Given the description of an element on the screen output the (x, y) to click on. 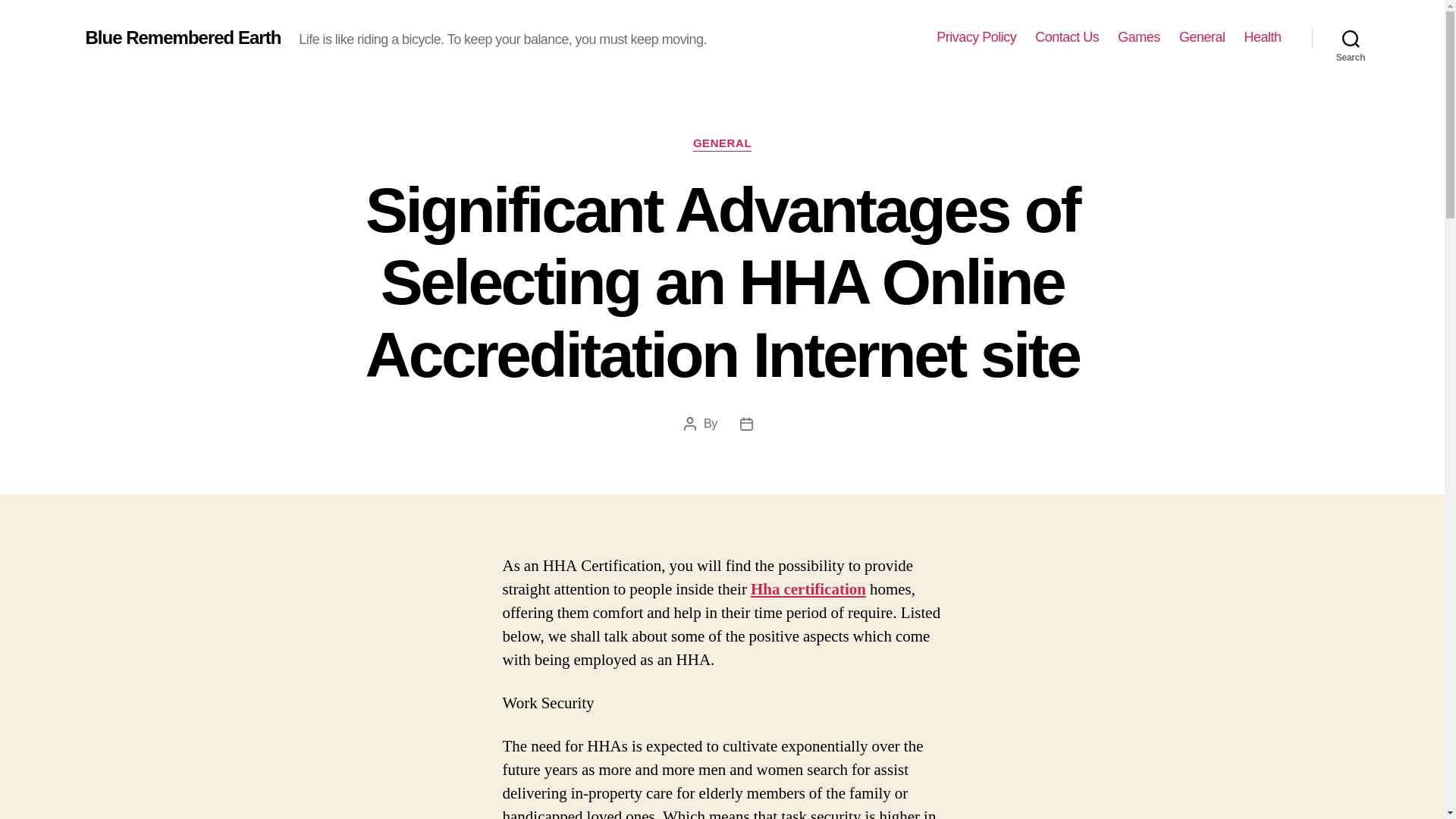
Health (1262, 37)
Contact Us (1067, 37)
GENERAL (722, 143)
Search (1350, 37)
General (1202, 37)
Hha certification (808, 589)
Games (1139, 37)
Blue Remembered Earth (182, 37)
Privacy Policy (976, 37)
